Given the description of an element on the screen output the (x, y) to click on. 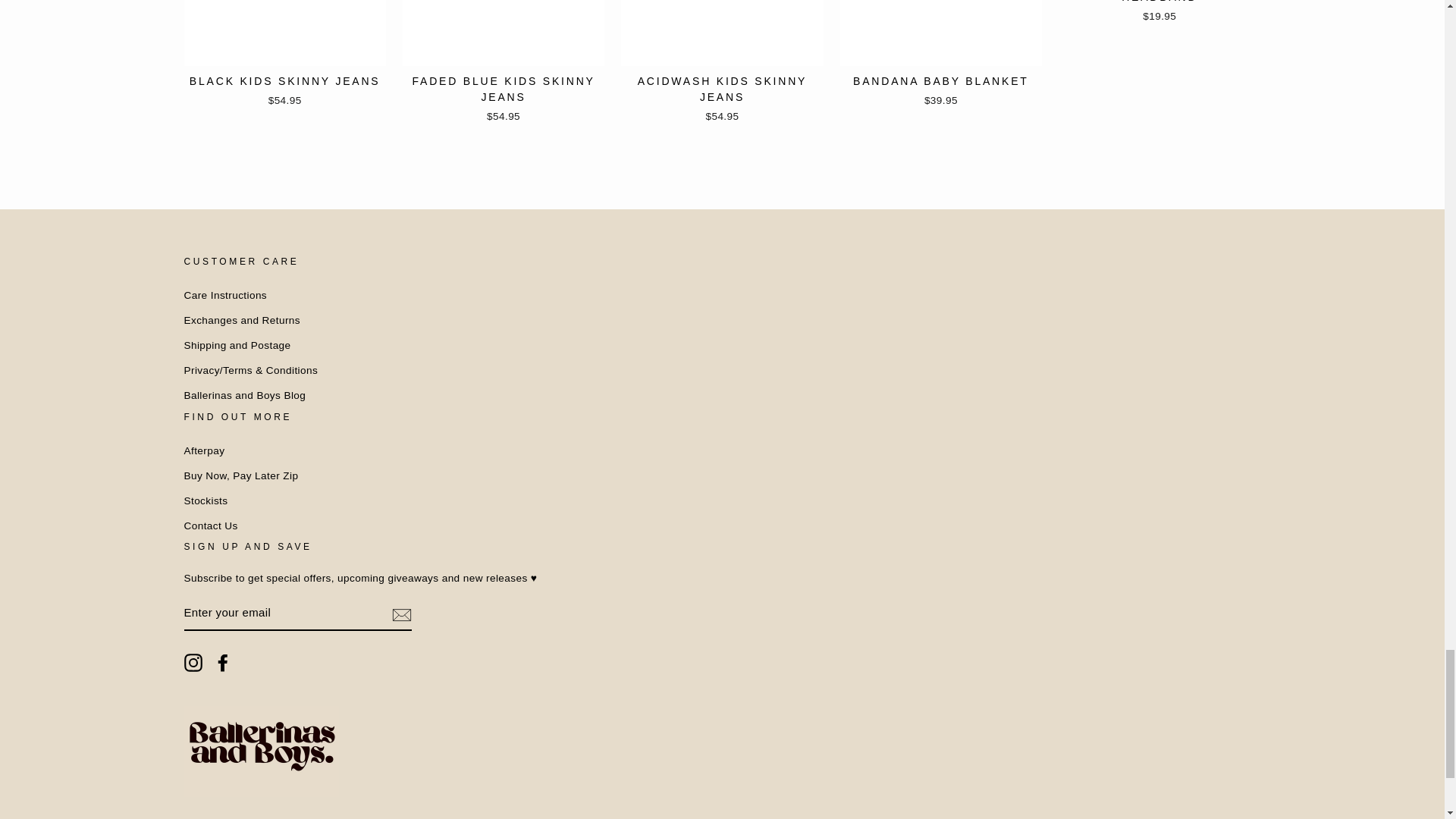
Ballerinas and Boys  on Instagram (192, 662)
Ballerinas and Boys  on Facebook (222, 662)
